Given the description of an element on the screen output the (x, y) to click on. 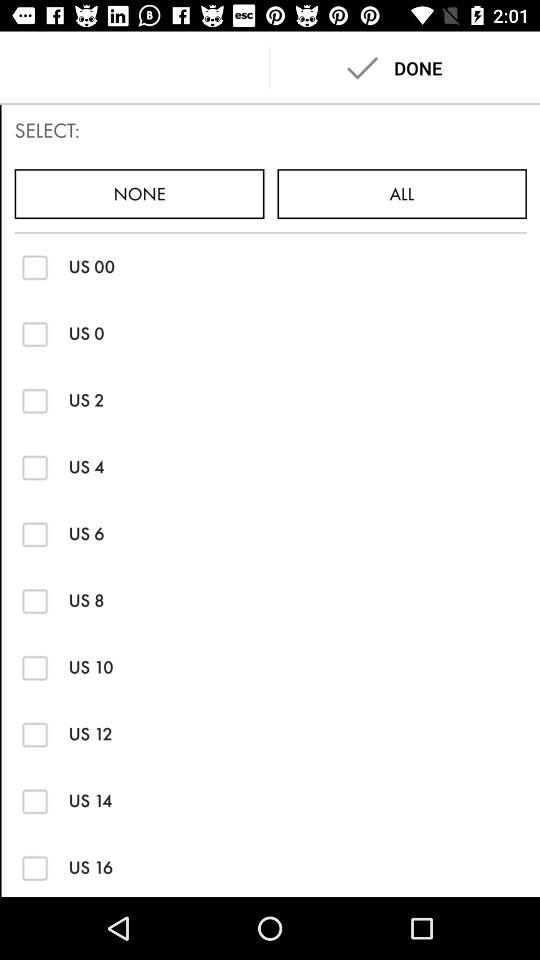
switch us 00 option (34, 266)
